Given the description of an element on the screen output the (x, y) to click on. 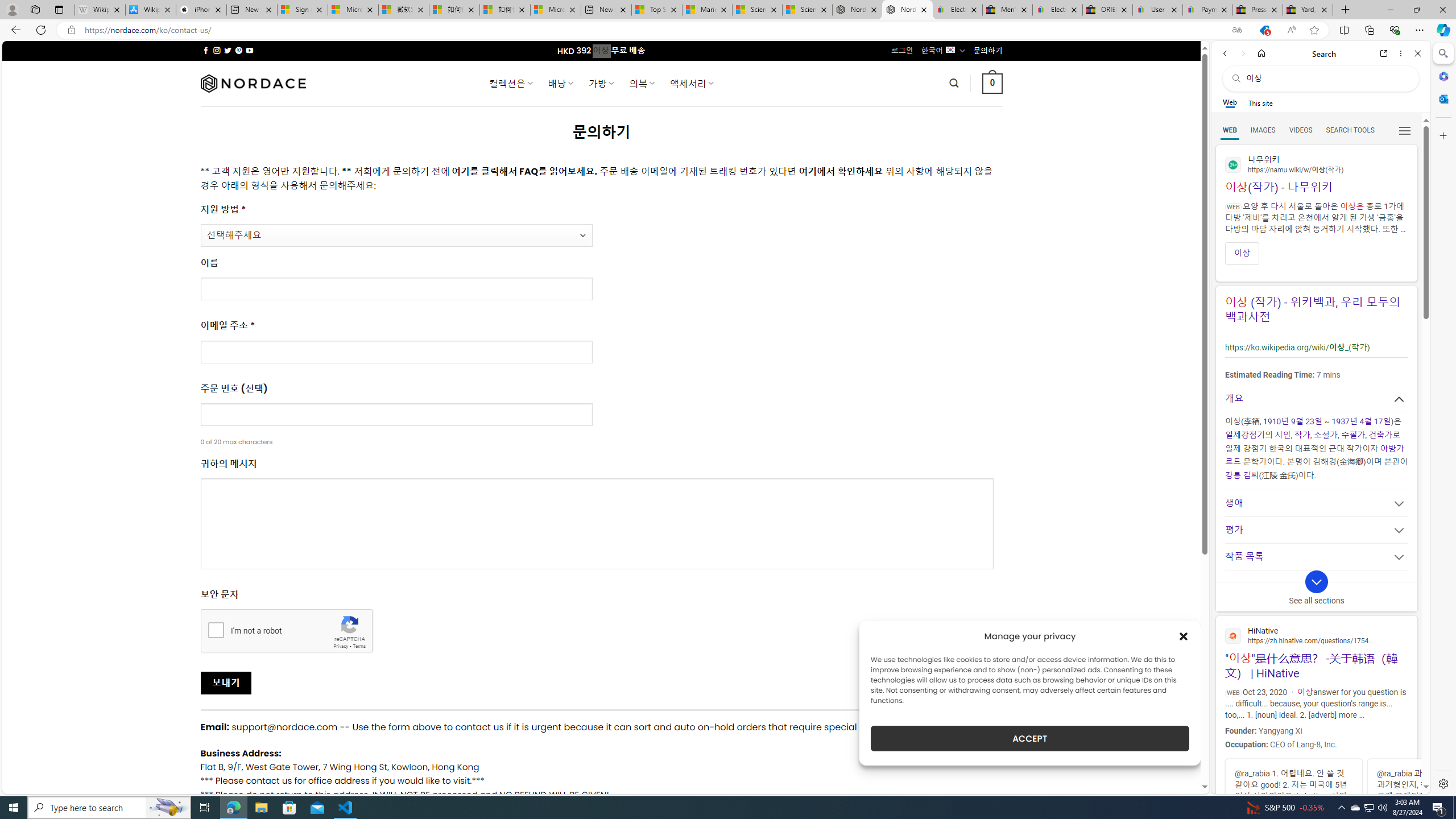
SEARCH TOOLS (1350, 130)
iPhone - Apple (201, 9)
Wikipedia - Sleeping (99, 9)
Follow on Pinterest (237, 50)
